Given the description of an element on the screen output the (x, y) to click on. 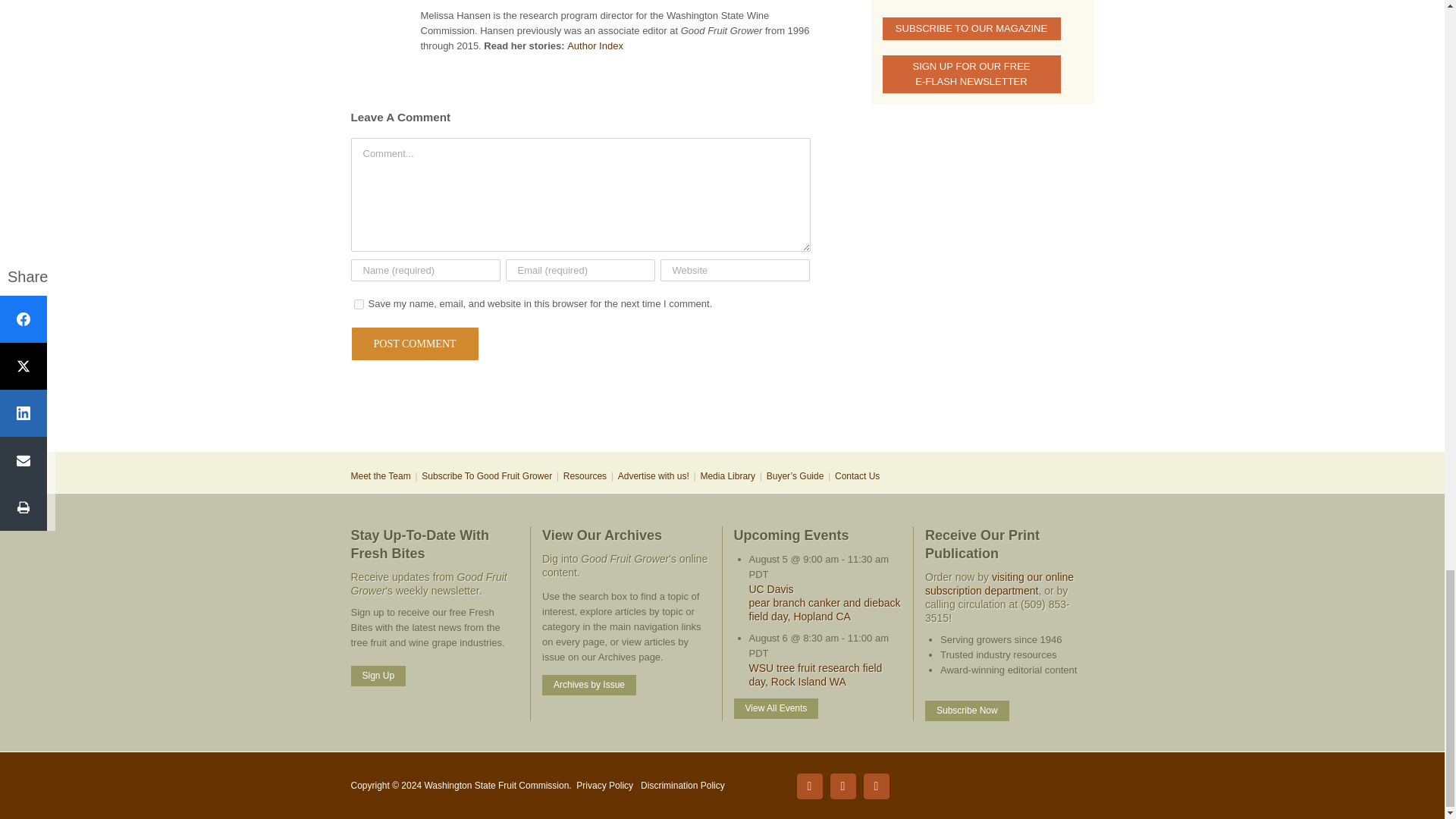
LinkedIn (842, 786)
yes (357, 304)
Post Comment (414, 343)
YouTube (875, 786)
Facebook (809, 786)
